Given the description of an element on the screen output the (x, y) to click on. 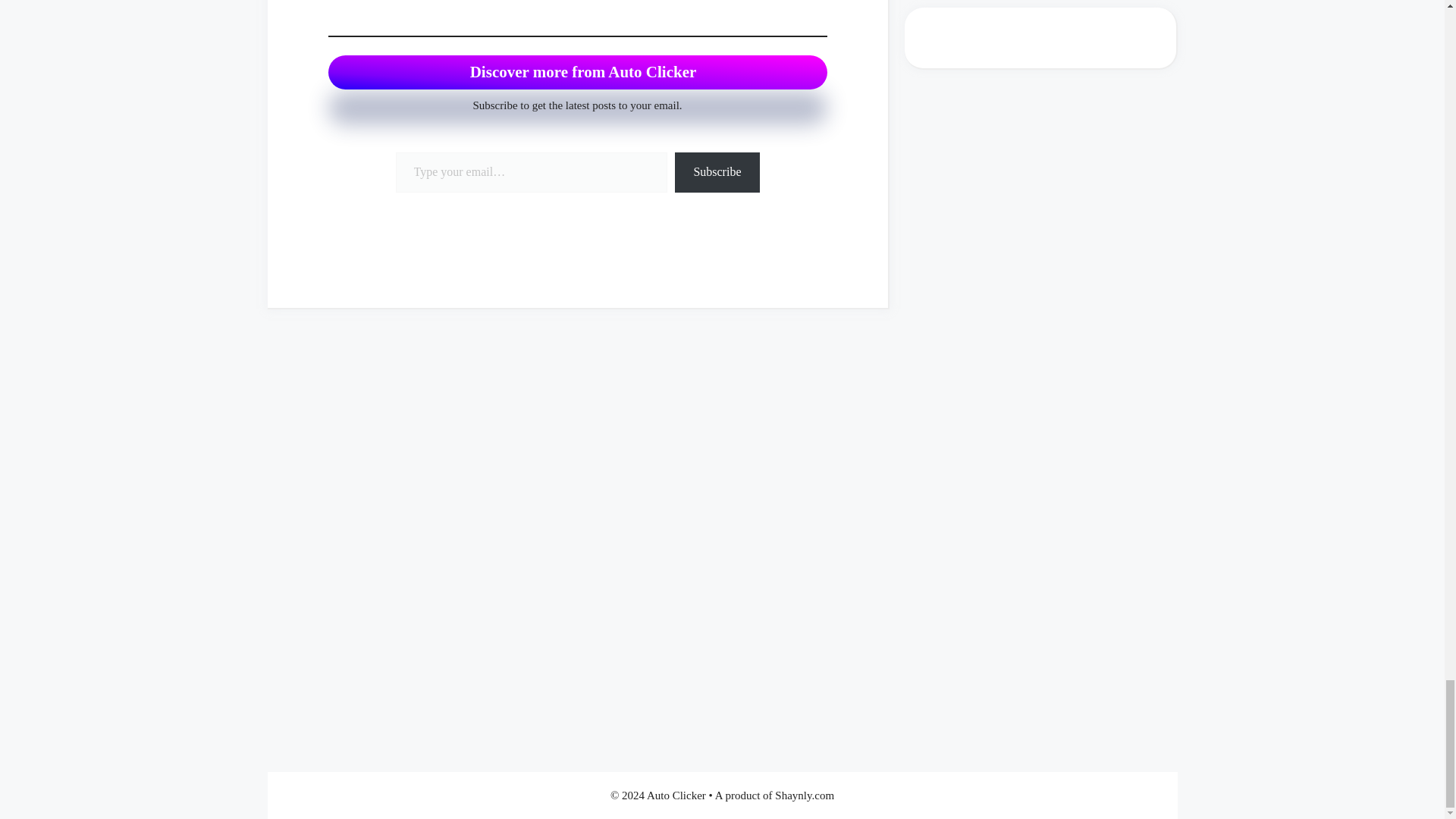
Subscribe (716, 172)
